Given the description of an element on the screen output the (x, y) to click on. 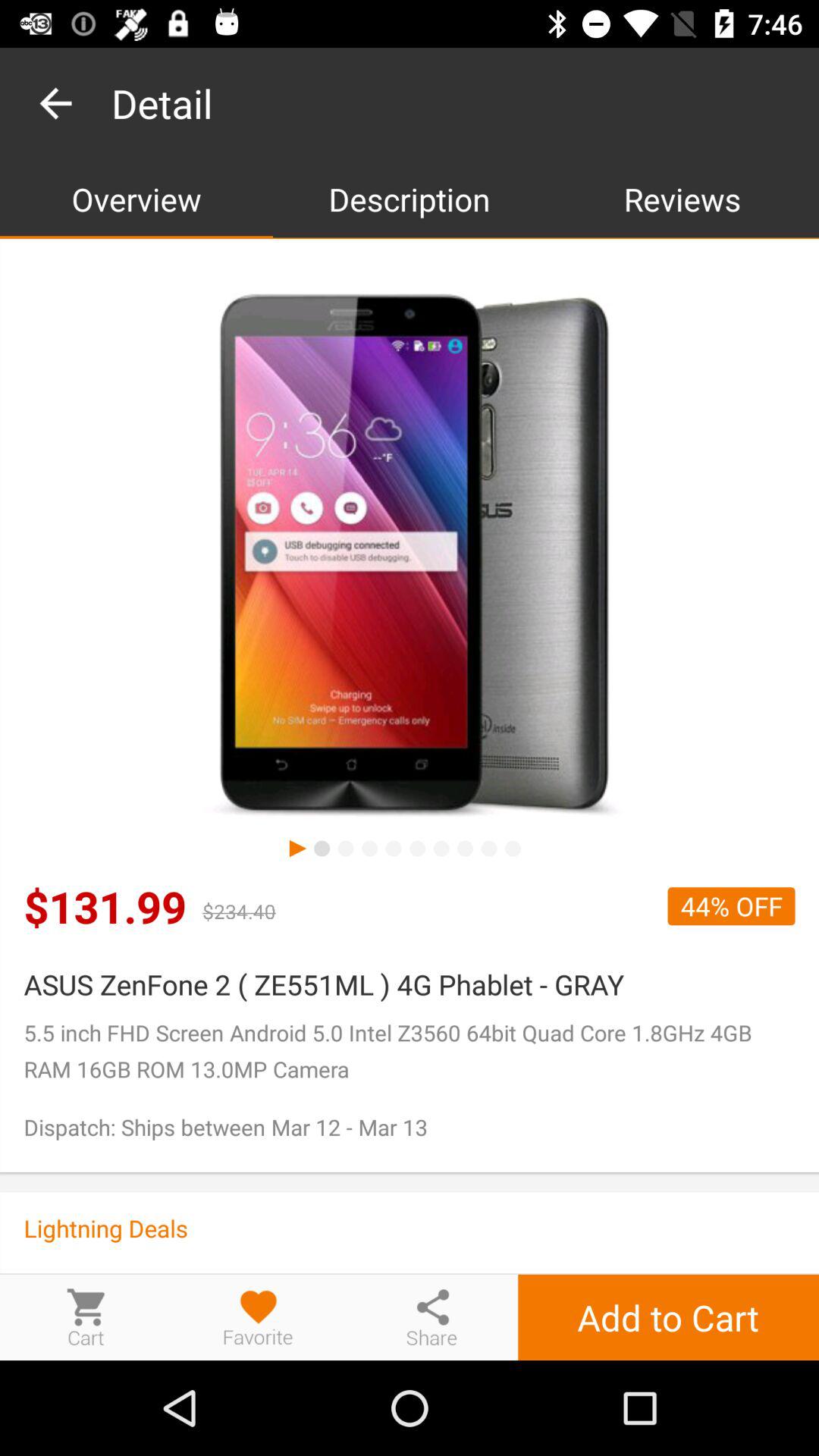
swipe to reviews app (682, 198)
